Given the description of an element on the screen output the (x, y) to click on. 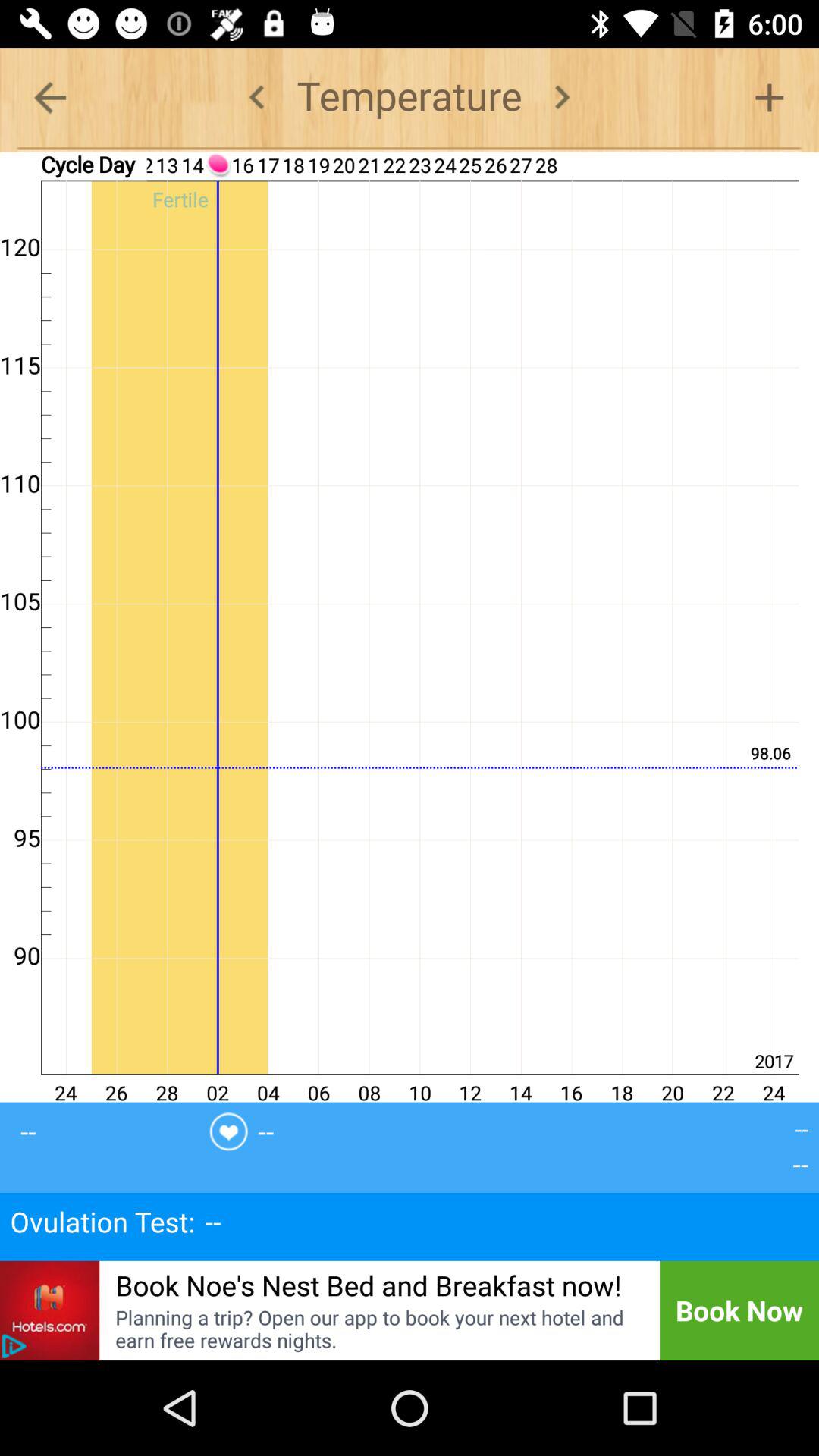
click the item next to the book now icon (377, 1329)
